Given the description of an element on the screen output the (x, y) to click on. 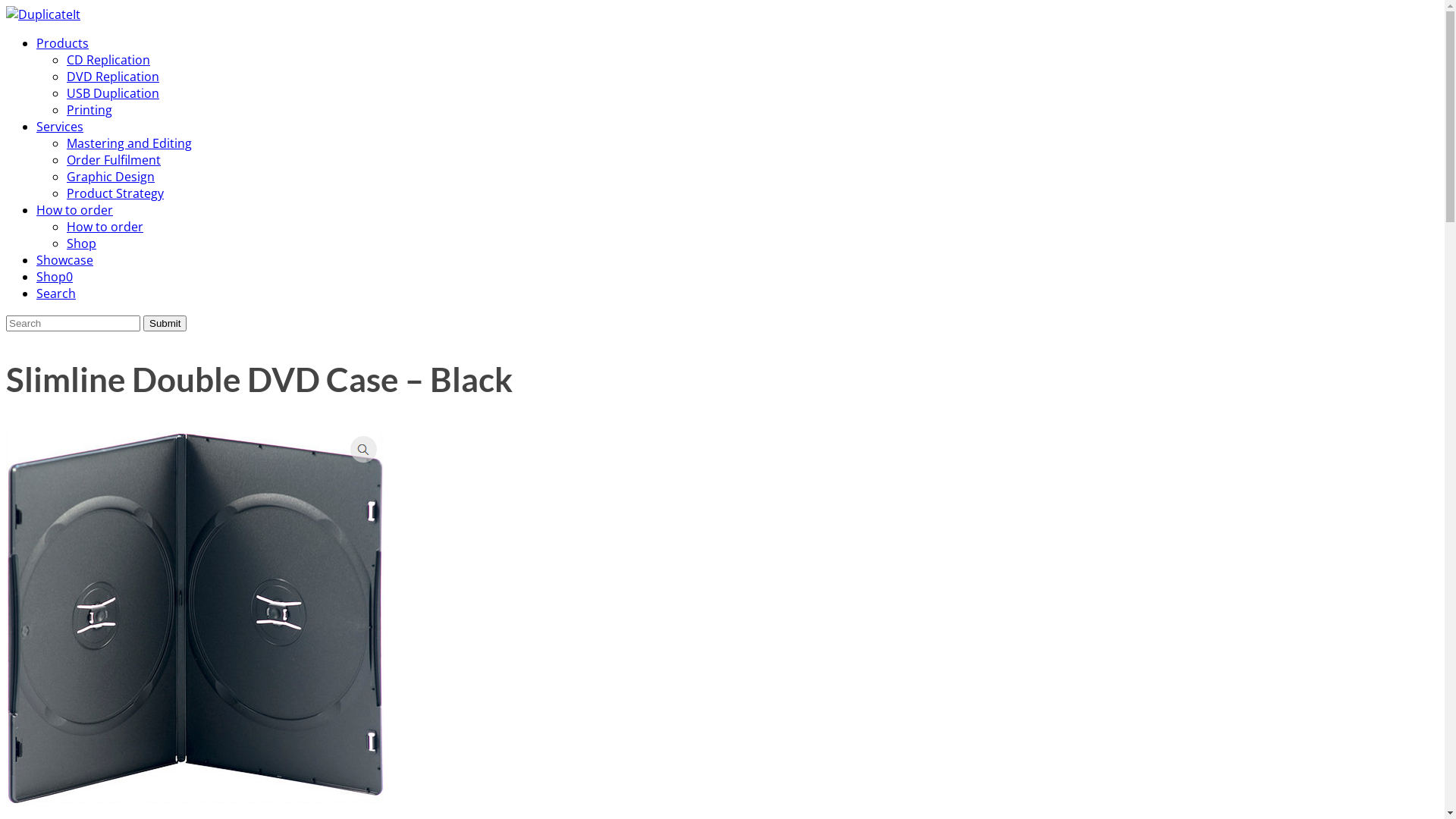
DuplicateIt Element type: hover (43, 14)
Product Strategy Element type: text (114, 193)
Mastering and Editing Element type: text (128, 142)
Products Element type: text (62, 42)
Showcase Element type: text (64, 259)
How to order Element type: text (74, 209)
USB Duplication Element type: text (112, 92)
Shop0 Element type: text (54, 276)
DVD Replication Element type: text (112, 76)
Shop Element type: text (81, 243)
Submit Element type: text (164, 323)
Services Element type: text (59, 126)
Graphic Design Element type: text (110, 176)
Search Element type: text (55, 293)
Printing Element type: text (89, 109)
Order Fulfilment Element type: text (113, 159)
CD Replication Element type: text (108, 59)
How to order Element type: text (104, 226)
